Given the description of an element on the screen output the (x, y) to click on. 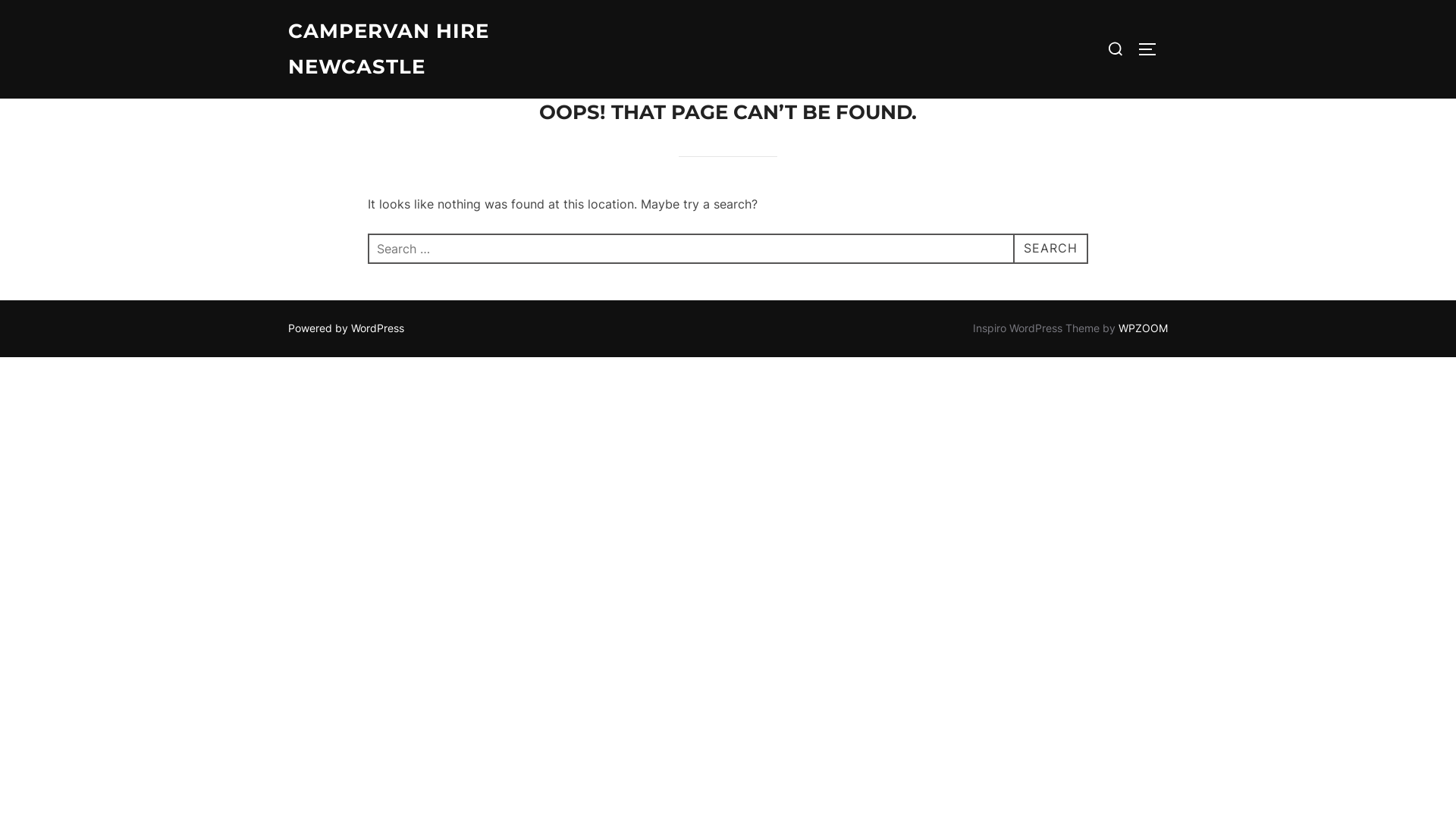
SEARCH Element type: text (1050, 248)
CAMPERVAN HIRE NEWCASTLE Element type: text (420, 48)
WPZOOM Element type: text (1142, 327)
TOGGLE SIDEBAR & NAVIGATION Element type: text (1152, 48)
Powered by WordPress Element type: text (346, 327)
